Given the description of an element on the screen output the (x, y) to click on. 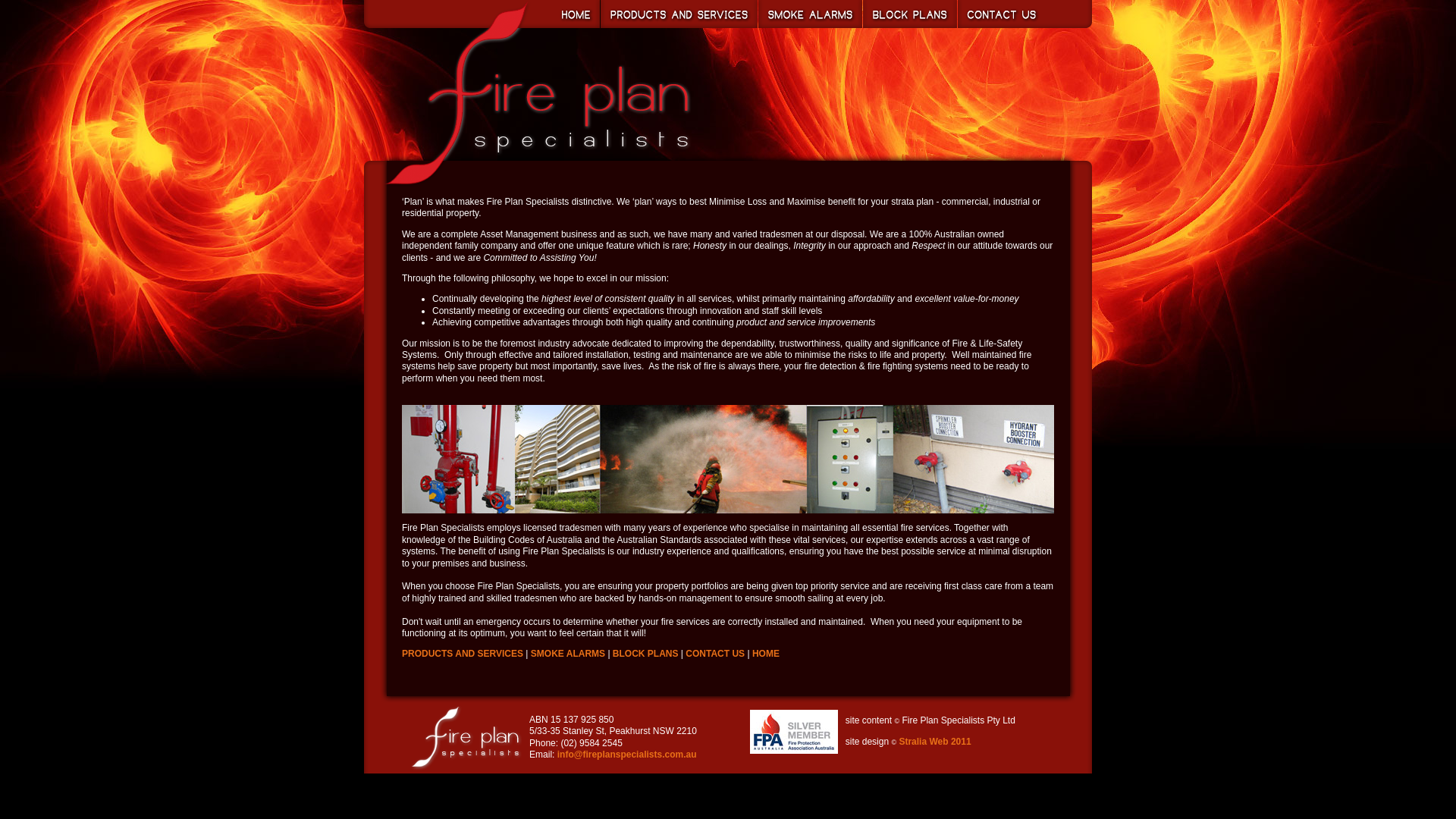
Stralia Web 2011 Element type: text (934, 741)
HOME Element type: text (765, 653)
PRODUCTS AND SERVICES Element type: text (462, 653)
SMOKE ALARMS Element type: text (567, 653)
BLOCK PLANS Element type: text (645, 653)
CONTACT US Element type: text (714, 653)
info@fireplanspecialists.com.au Element type: text (626, 754)
